Given the description of an element on the screen output the (x, y) to click on. 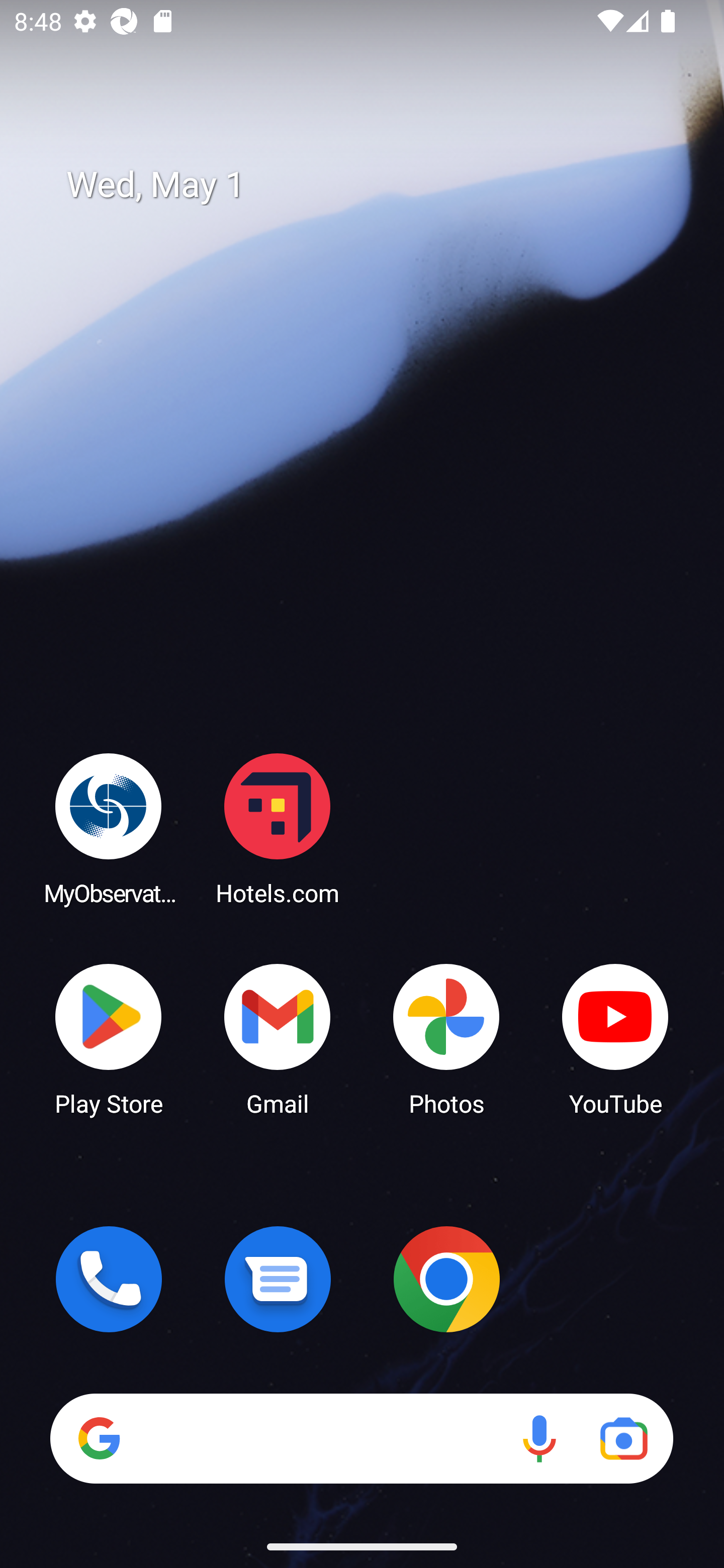
Wed, May 1 (375, 184)
MyObservatory (108, 828)
Hotels.com (277, 828)
Play Store (108, 1038)
Gmail (277, 1038)
Photos (445, 1038)
YouTube (615, 1038)
Phone (108, 1279)
Messages (277, 1279)
Chrome (446, 1279)
Search Voice search Google Lens (361, 1438)
Voice search (539, 1438)
Google Lens (623, 1438)
